Given the description of an element on the screen output the (x, y) to click on. 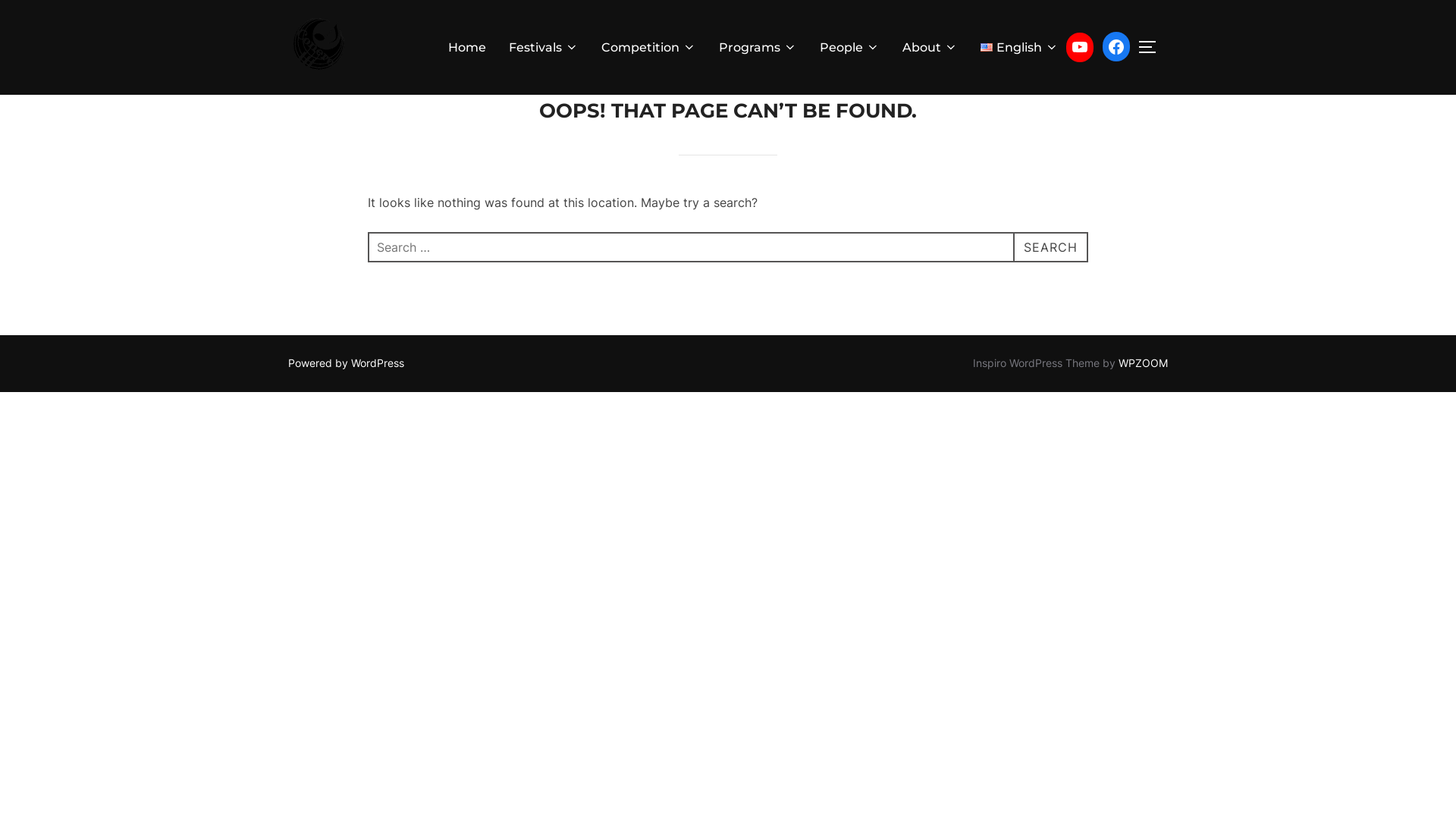
Home Element type: text (467, 47)
People Element type: text (849, 47)
About Element type: text (929, 47)
Programs Element type: text (757, 47)
English Element type: text (1019, 47)
TOGGLE SIDEBAR & NAVIGATION Element type: text (1152, 46)
Festivals Element type: text (543, 47)
WPZOOM Element type: text (1142, 362)
Powered by WordPress Element type: text (346, 362)
Facebook Element type: text (1115, 46)
SEARCH Element type: text (1050, 247)
YouTube Element type: text (1079, 46)
Competition Element type: text (648, 47)
